Given the description of an element on the screen output the (x, y) to click on. 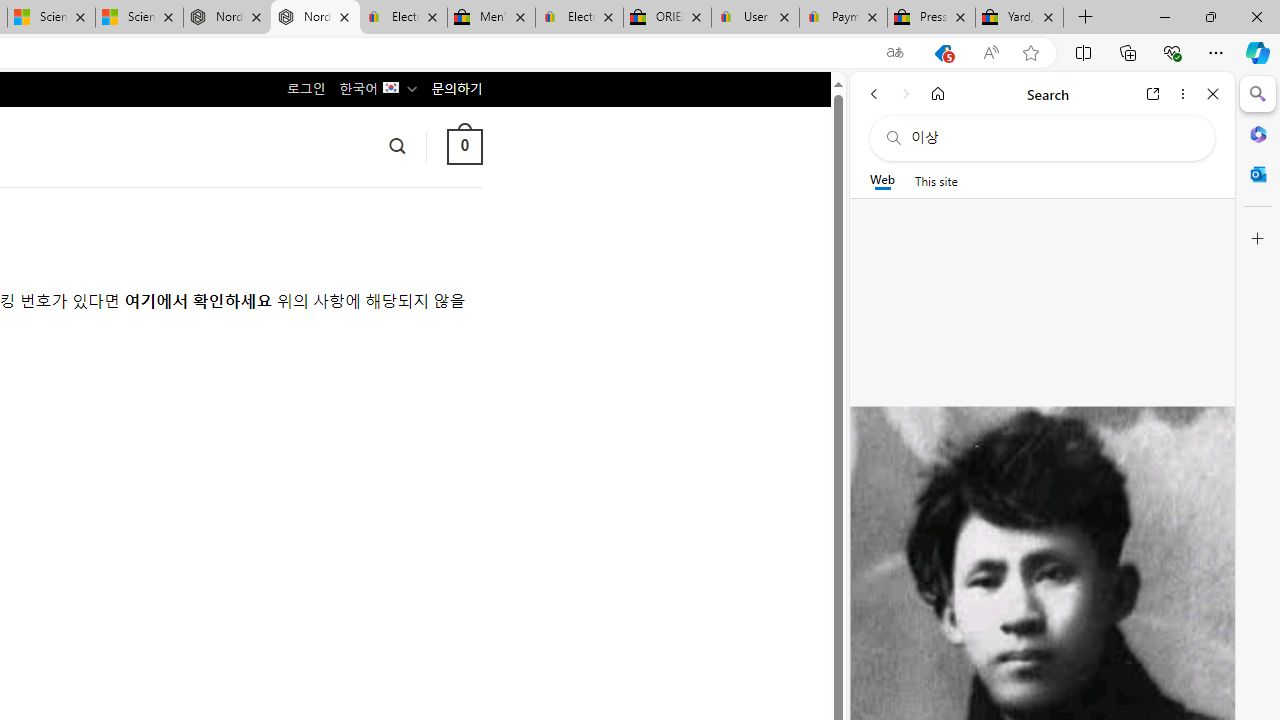
Payments Terms of Use | eBay.com (843, 17)
Electronics, Cars, Fashion, Collectibles & More | eBay (579, 17)
